Given the description of an element on the screen output the (x, y) to click on. 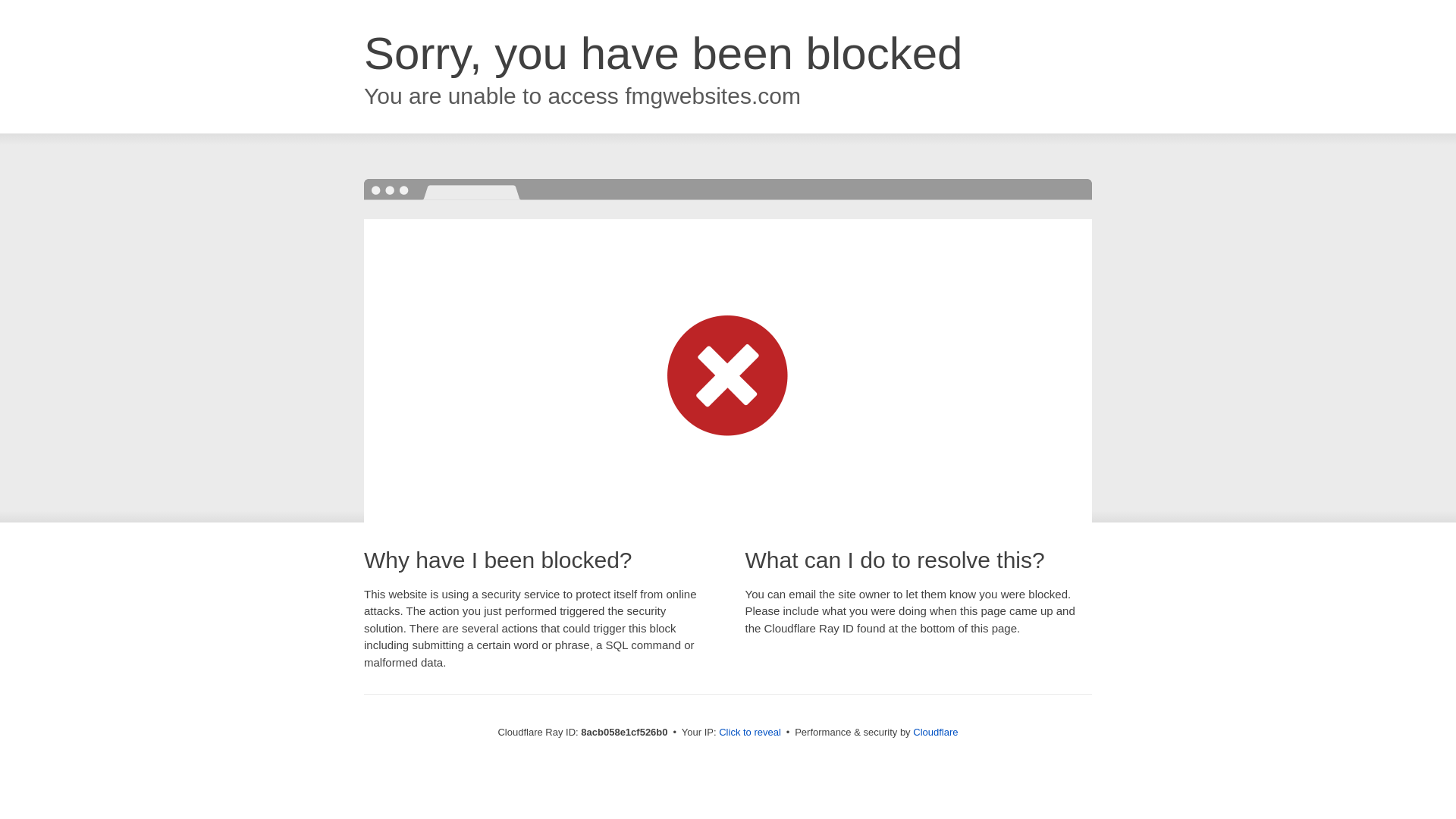
Cloudflare (935, 731)
Click to reveal (749, 732)
